Given the description of an element on the screen output the (x, y) to click on. 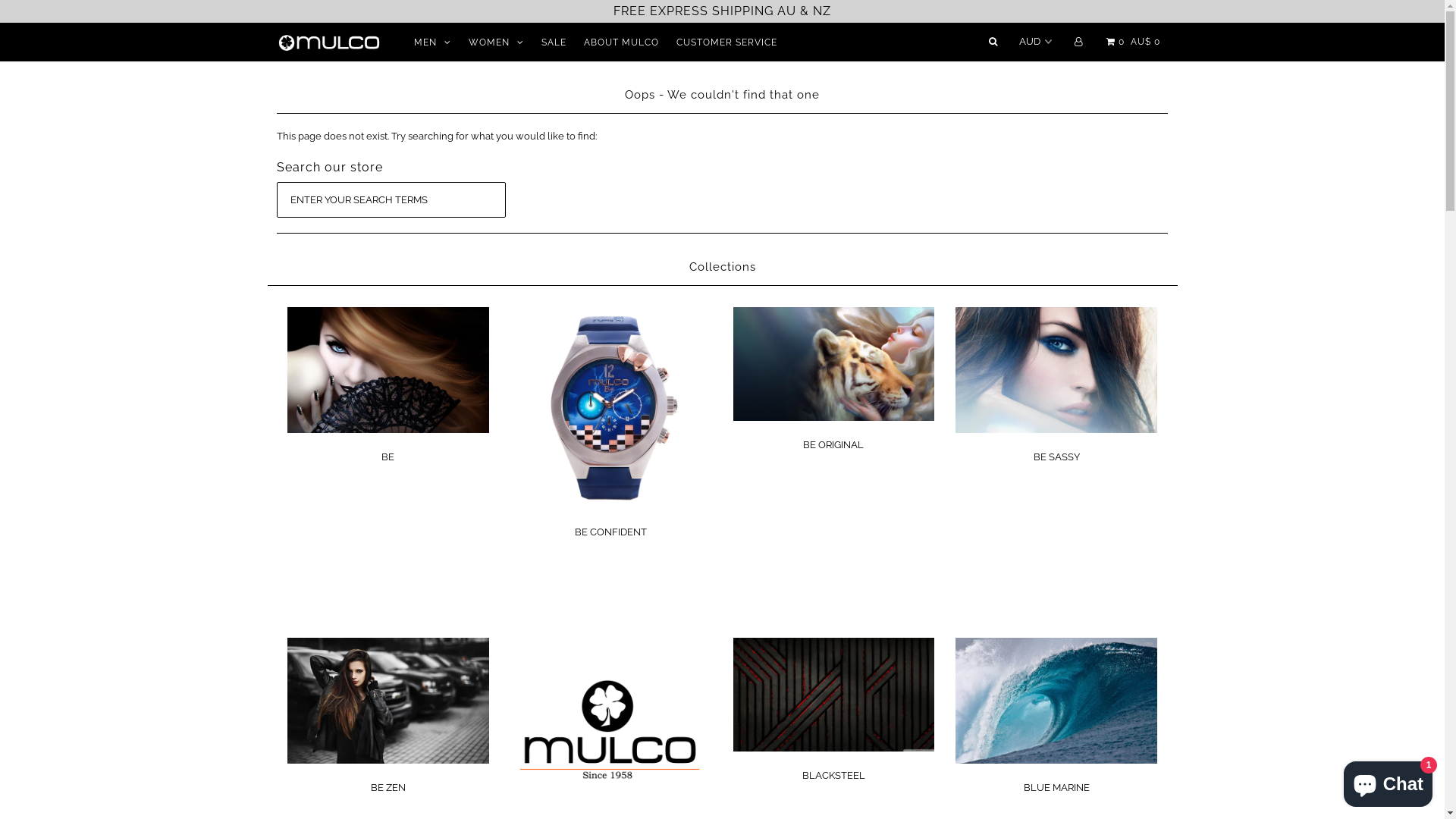
Shopify online store chat Element type: hover (1388, 780)
BE SASSY Element type: text (1056, 456)
BE Element type: text (387, 456)
BE CONFIDENT Element type: text (610, 531)
BE ZEN Element type: text (387, 787)
HOME Element type: text (684, 52)
WOMEN Element type: text (496, 42)
  0  AU$ 0 Element type: text (1131, 41)
BLUE MARINE Element type: text (1056, 787)
ABOUT MULCO Element type: text (621, 42)
BLACKSTEEL Element type: text (833, 775)
BE ORIGINAL Element type: text (833, 444)
SALE Element type: text (553, 42)
CUSTOMER SERVICE Element type: text (726, 42)
MEN Element type: text (432, 42)
